Given the description of an element on the screen output the (x, y) to click on. 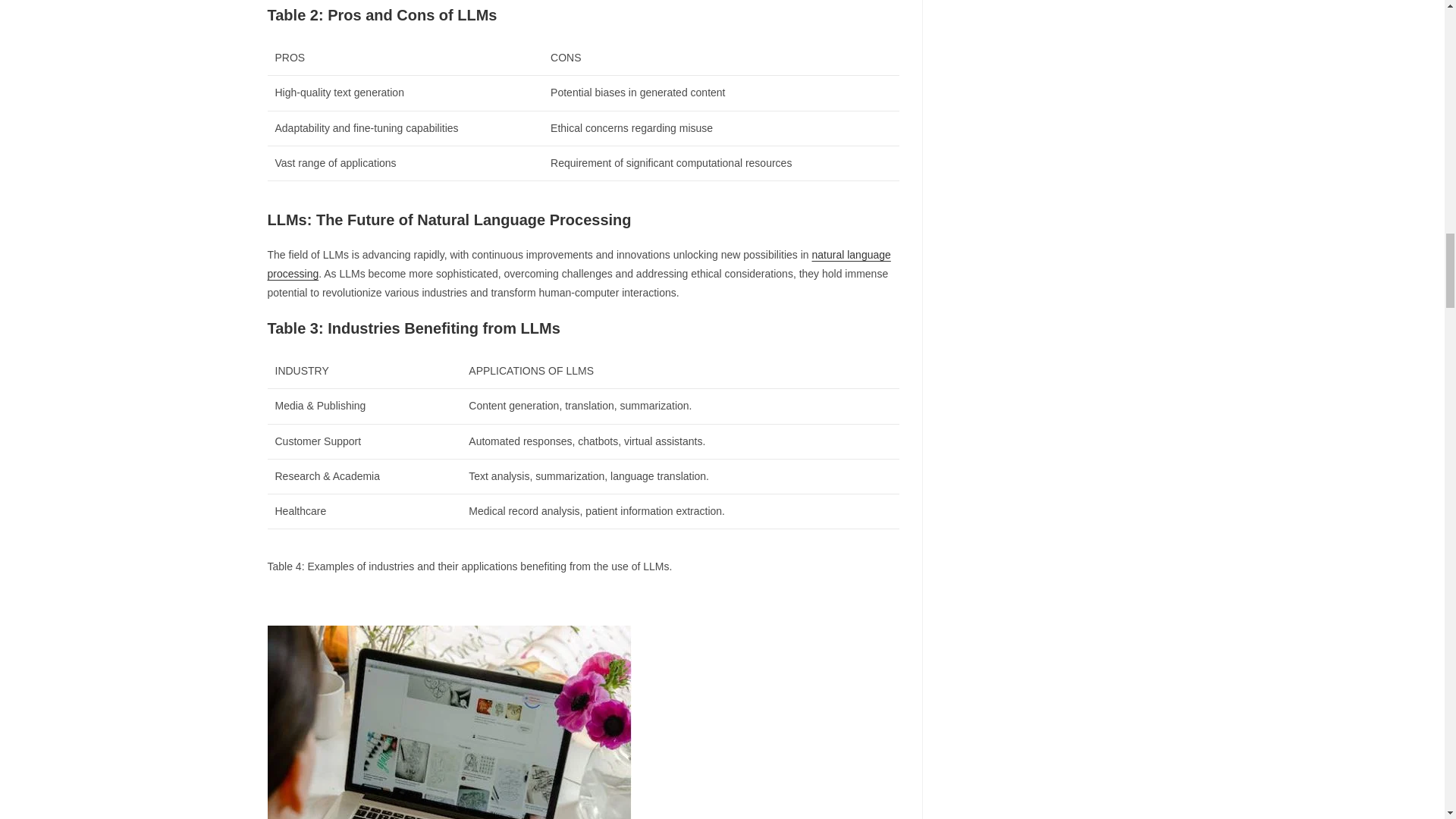
natural language processing (577, 264)
Large Language Model Quiz (448, 722)
